Given the description of an element on the screen output the (x, y) to click on. 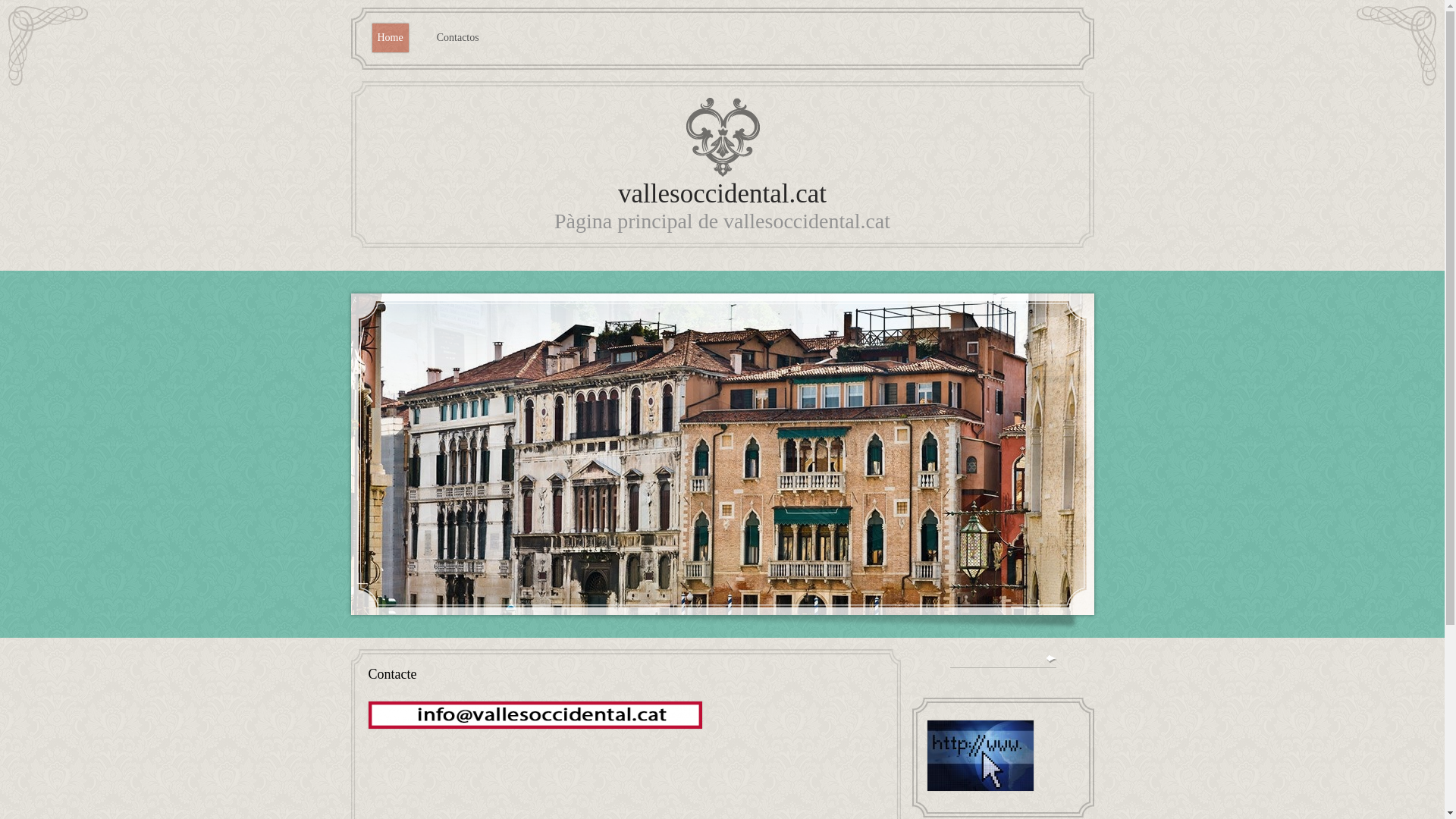
Home Element type: text (389, 37)
Contactos Element type: text (457, 37)
vallesoccidental.cat Element type: text (722, 193)
invia Element type: text (1049, 658)
